Given the description of an element on the screen output the (x, y) to click on. 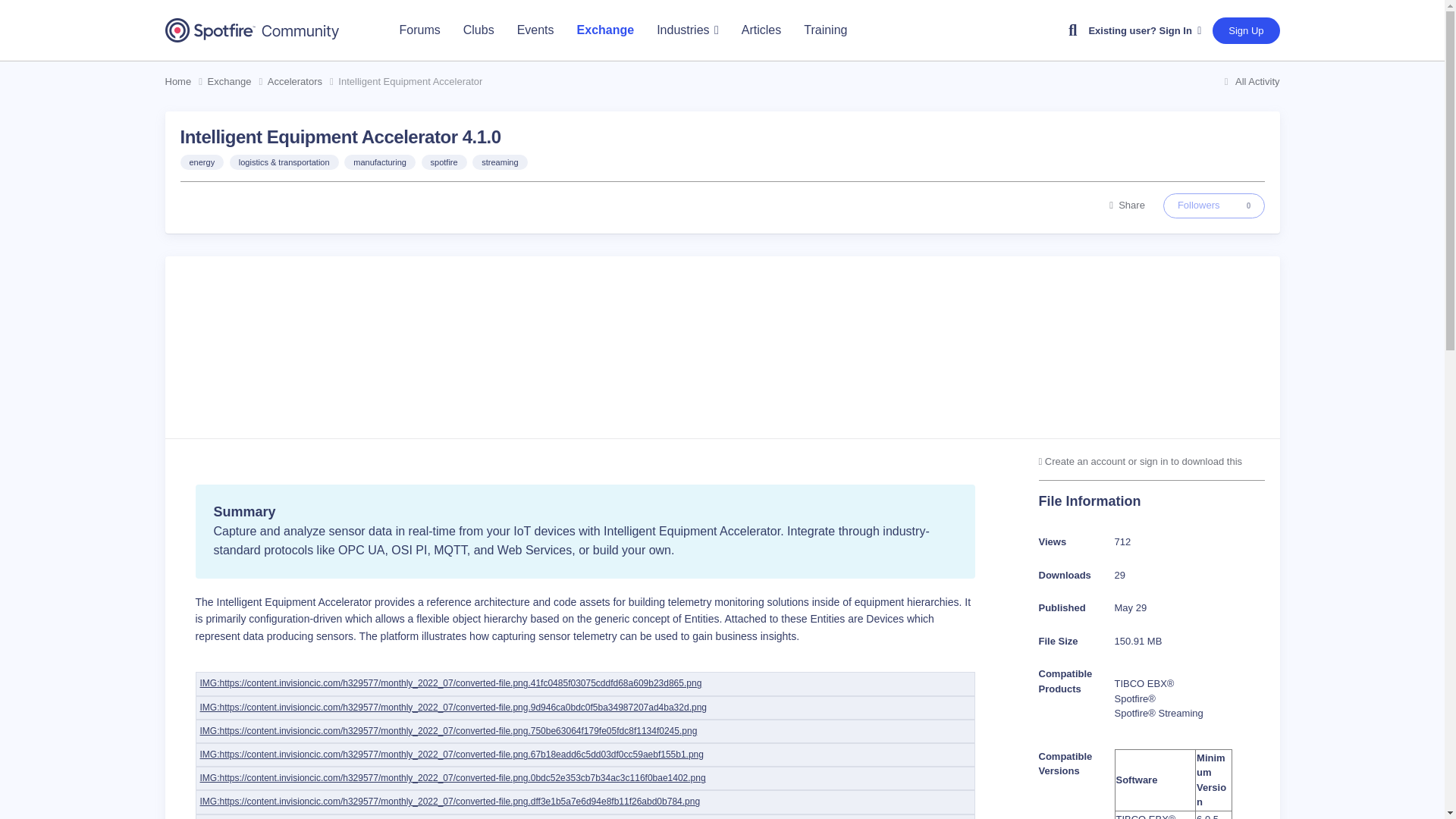
Find other content tagged with 'manufacturing' (378, 161)
Home (186, 81)
Events (535, 30)
Exchange (606, 30)
Training (825, 30)
spotfire (444, 161)
Find other content tagged with 'streaming' (499, 161)
Exchange (237, 81)
Home (186, 81)
All Activity (1249, 81)
